Given the description of an element on the screen output the (x, y) to click on. 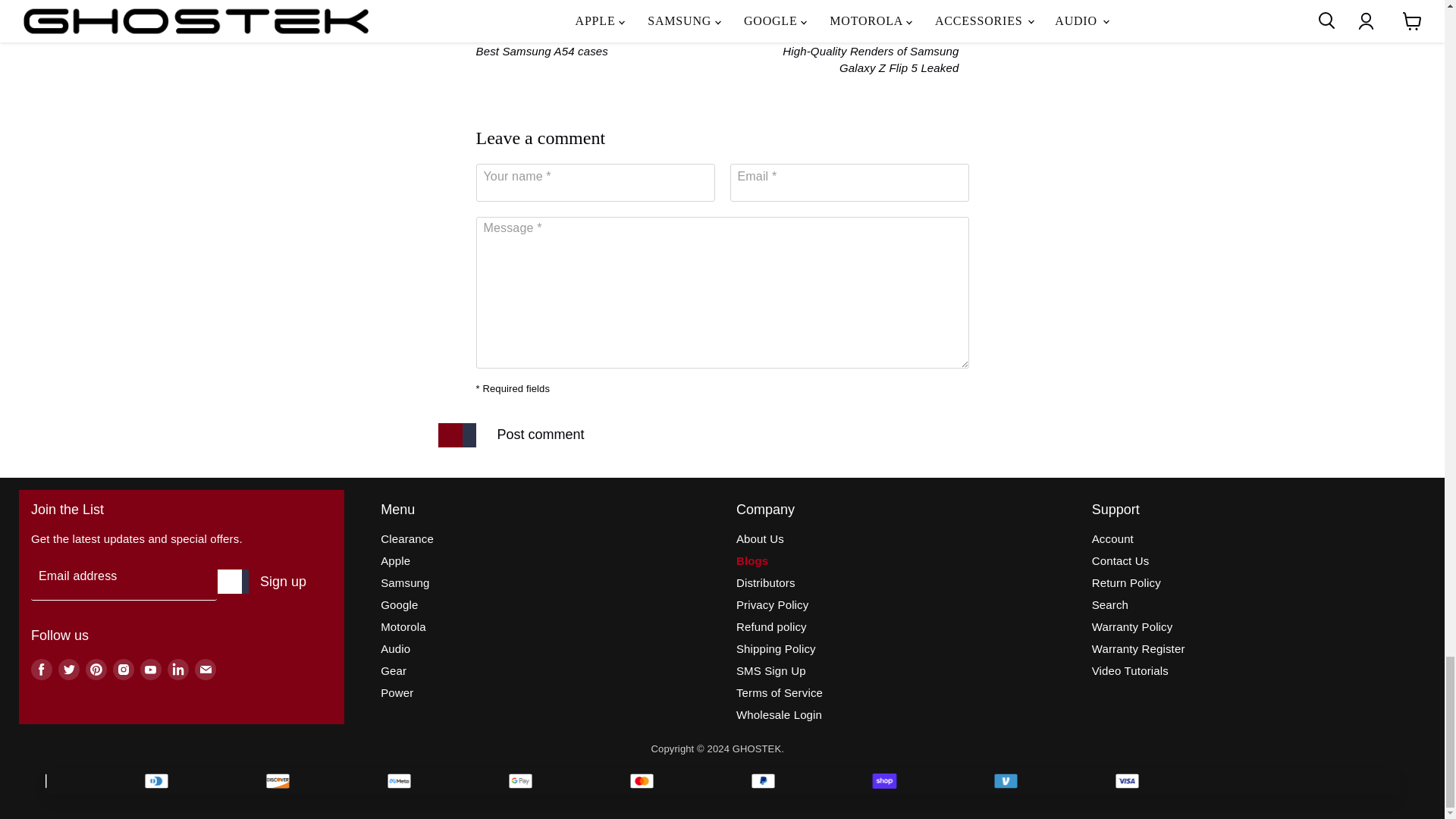
Twitter (69, 669)
LinkedIn (178, 669)
Youtube (150, 669)
Email (205, 669)
Facebook (41, 669)
Pinterest (95, 669)
Instagram (123, 669)
